Given the description of an element on the screen output the (x, y) to click on. 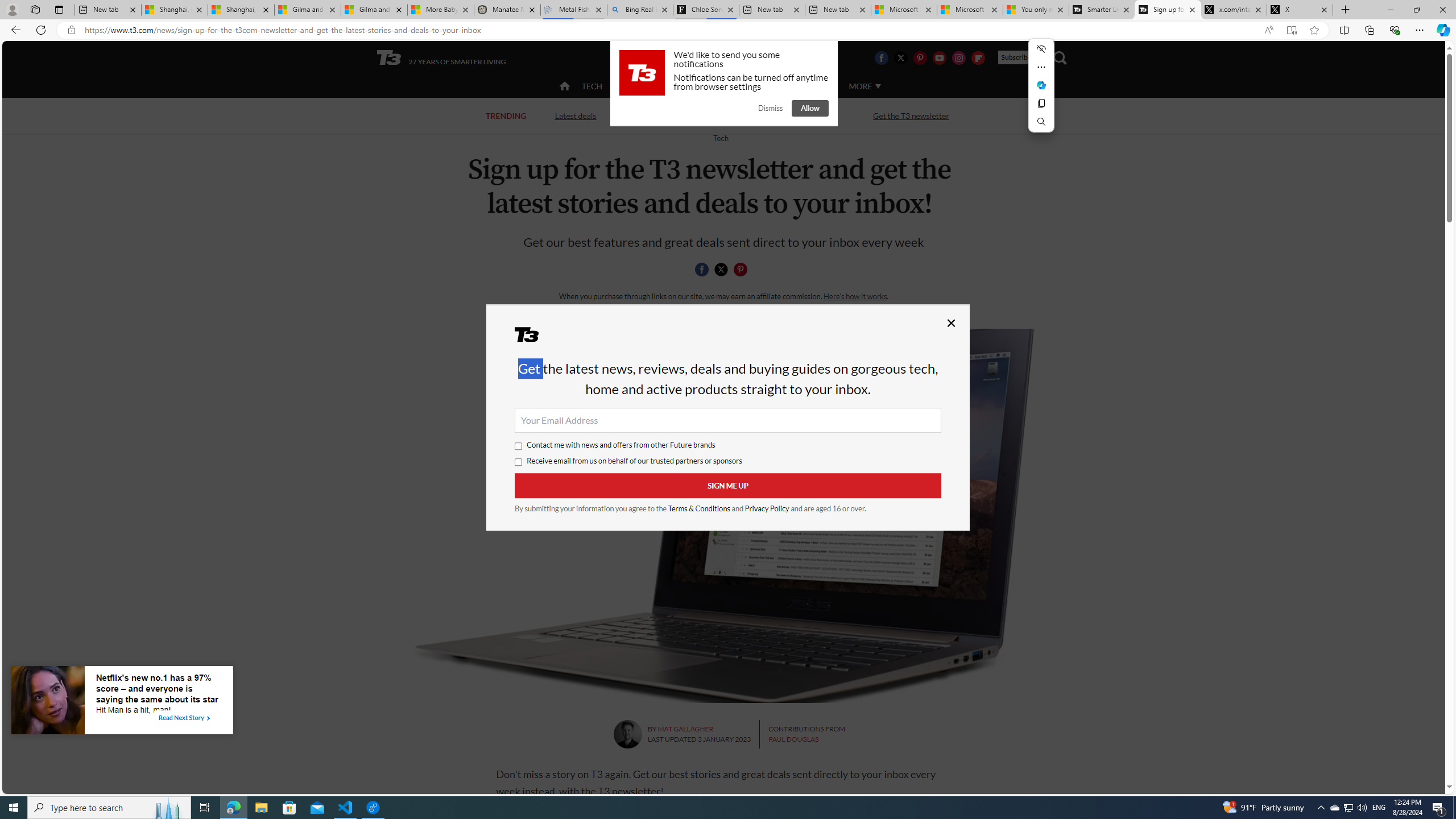
Back to Class 2024 (670, 115)
Copy (1041, 103)
LUXURY (765, 85)
t3.com Logo (641, 72)
Ask Copilot (1041, 85)
Class: navigation__item (563, 86)
TECH (591, 86)
Class: icon-svg (739, 269)
Allow (810, 107)
HOME LIVING (701, 85)
Share this page on Twitter (720, 269)
